Given the description of an element on the screen output the (x, y) to click on. 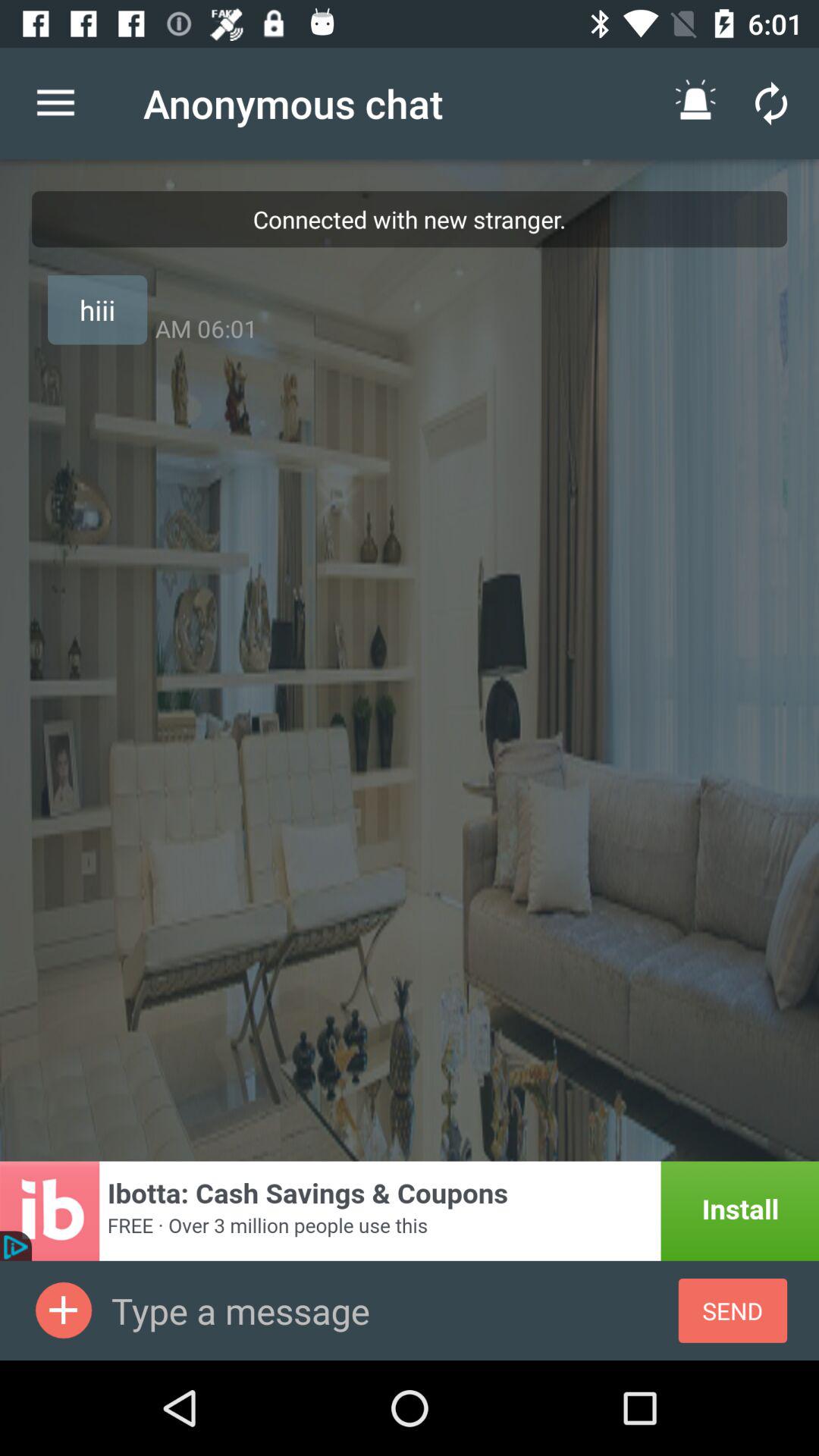
add the images (63, 1310)
